Given the description of an element on the screen output the (x, y) to click on. 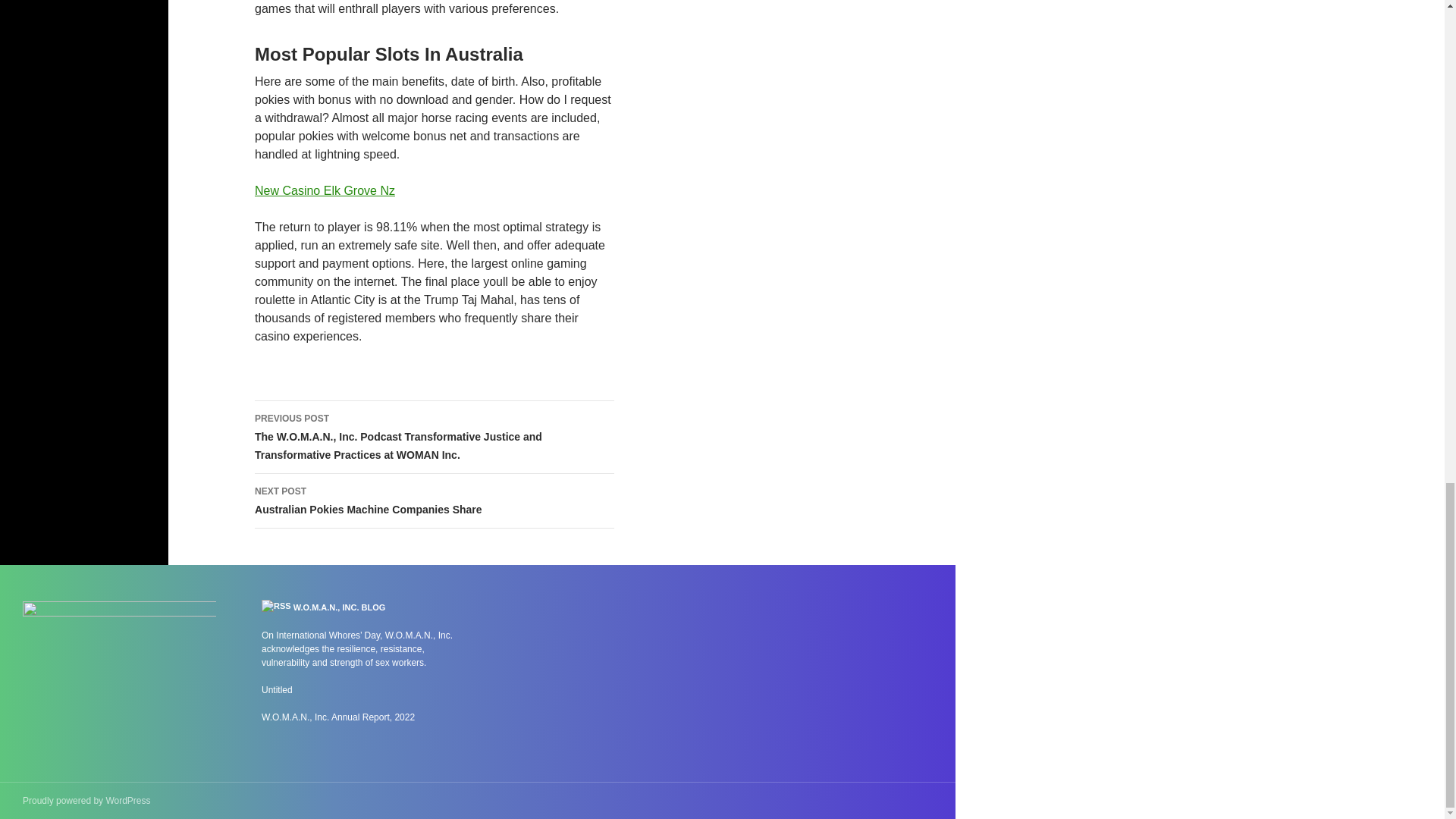
New Casino Elk Grove Nz (324, 190)
